Given the description of an element on the screen output the (x, y) to click on. 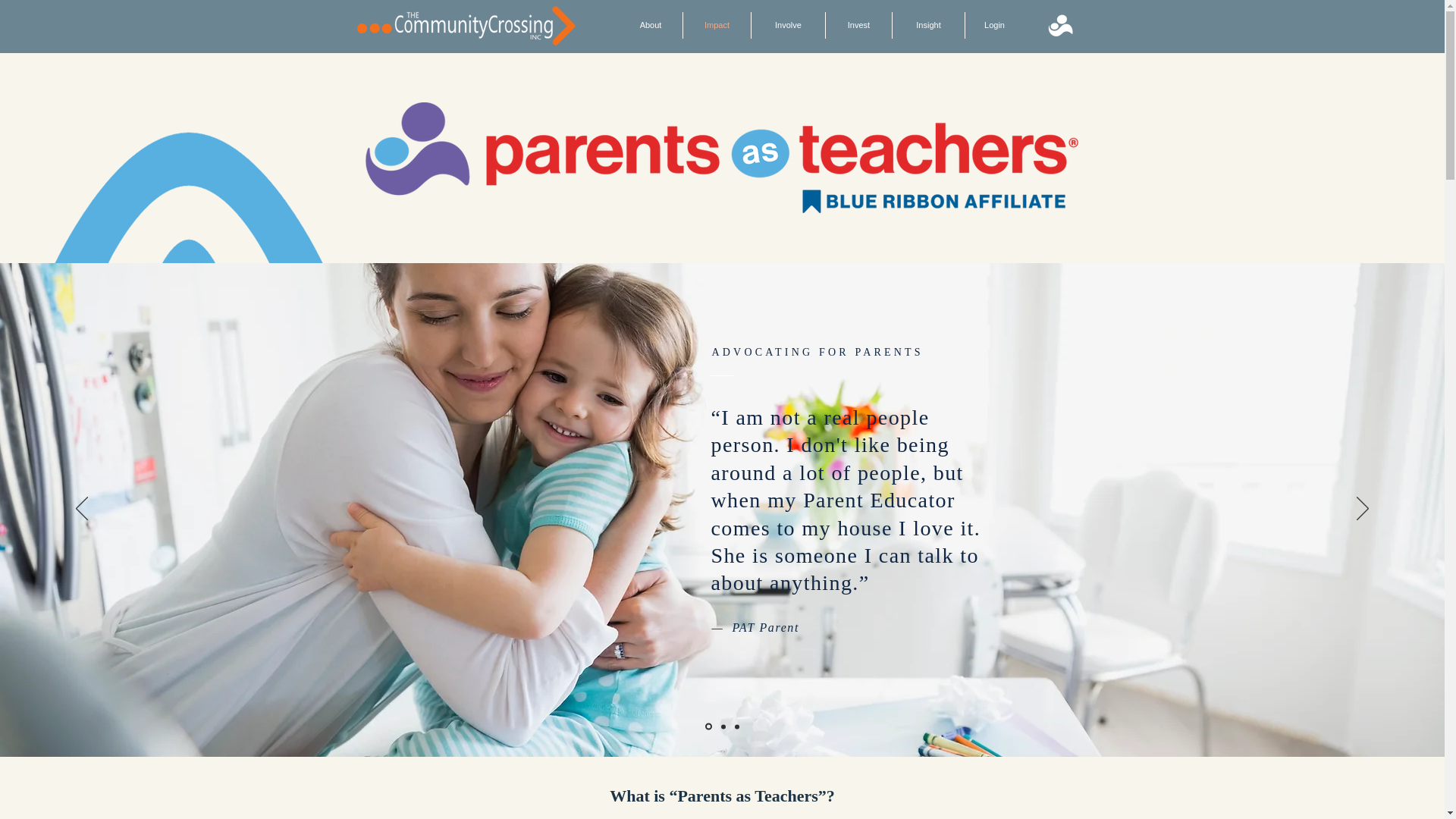
About (650, 25)
Invest (858, 25)
Insight (927, 25)
Involve (788, 25)
Impact (716, 25)
Login (994, 25)
